Given the description of an element on the screen output the (x, y) to click on. 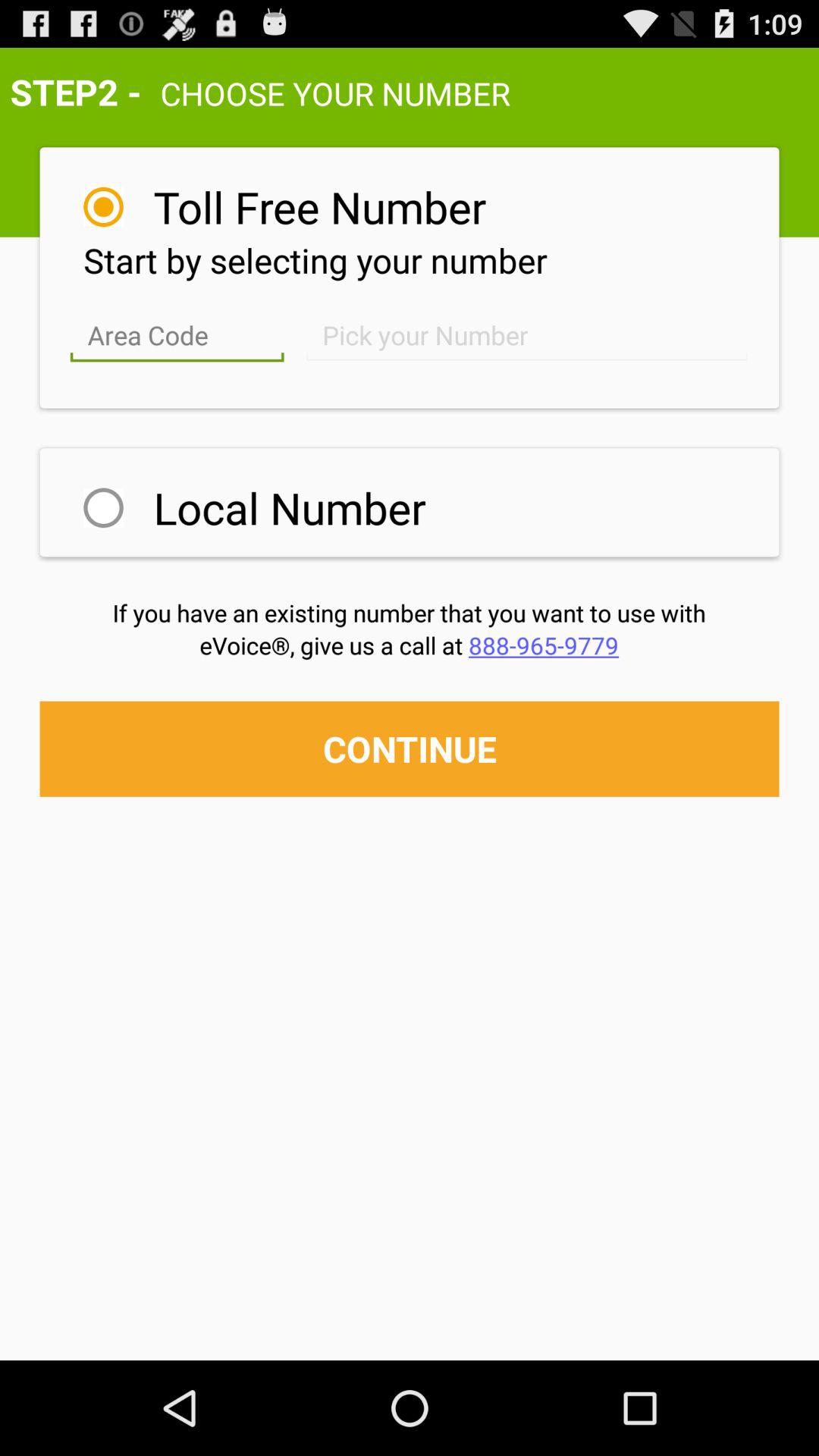
jump to continue button (409, 748)
